Given the description of an element on the screen output the (x, y) to click on. 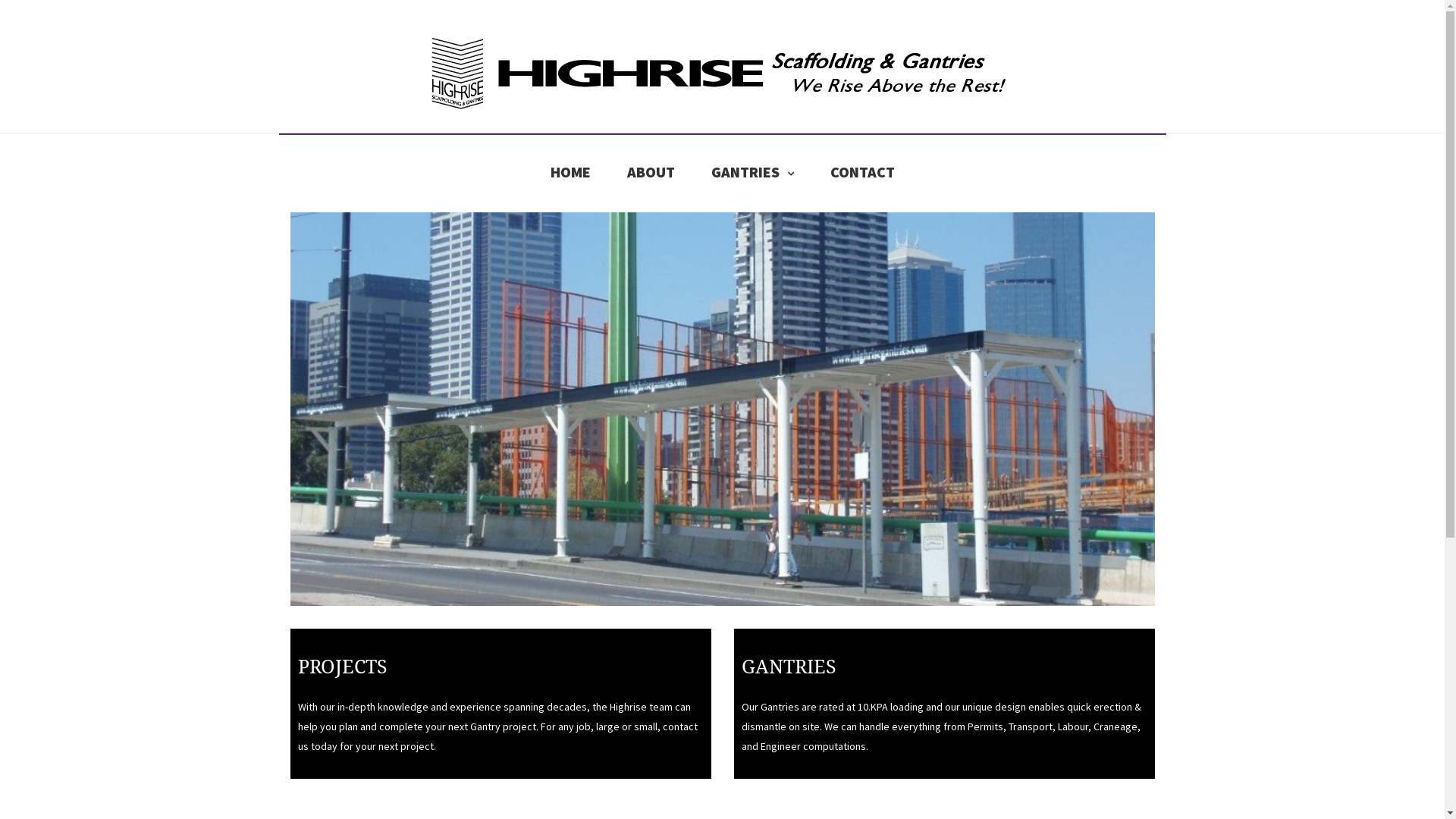
ABOUT Element type: text (650, 171)
HOME Element type: text (570, 171)
GANTRIES Element type: text (752, 171)
CONTACT Element type: text (861, 171)
